Given the description of an element on the screen output the (x, y) to click on. 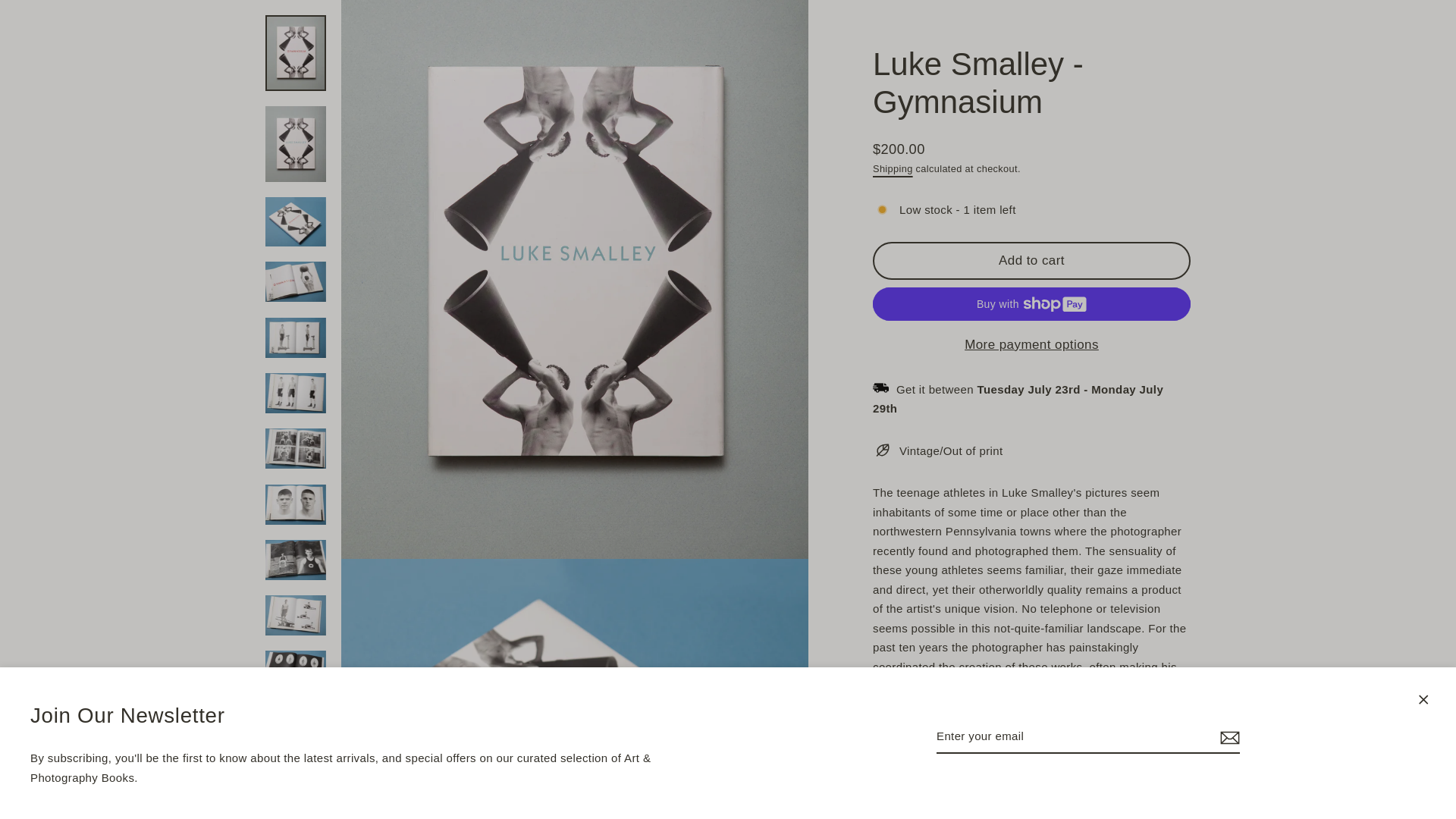
twitter (1010, 572)
ICON-HAMBURGER (130, 47)
Tweet on Twitter (1033, 572)
ICON-HAMBURGER (162, 46)
